Given the description of an element on the screen output the (x, y) to click on. 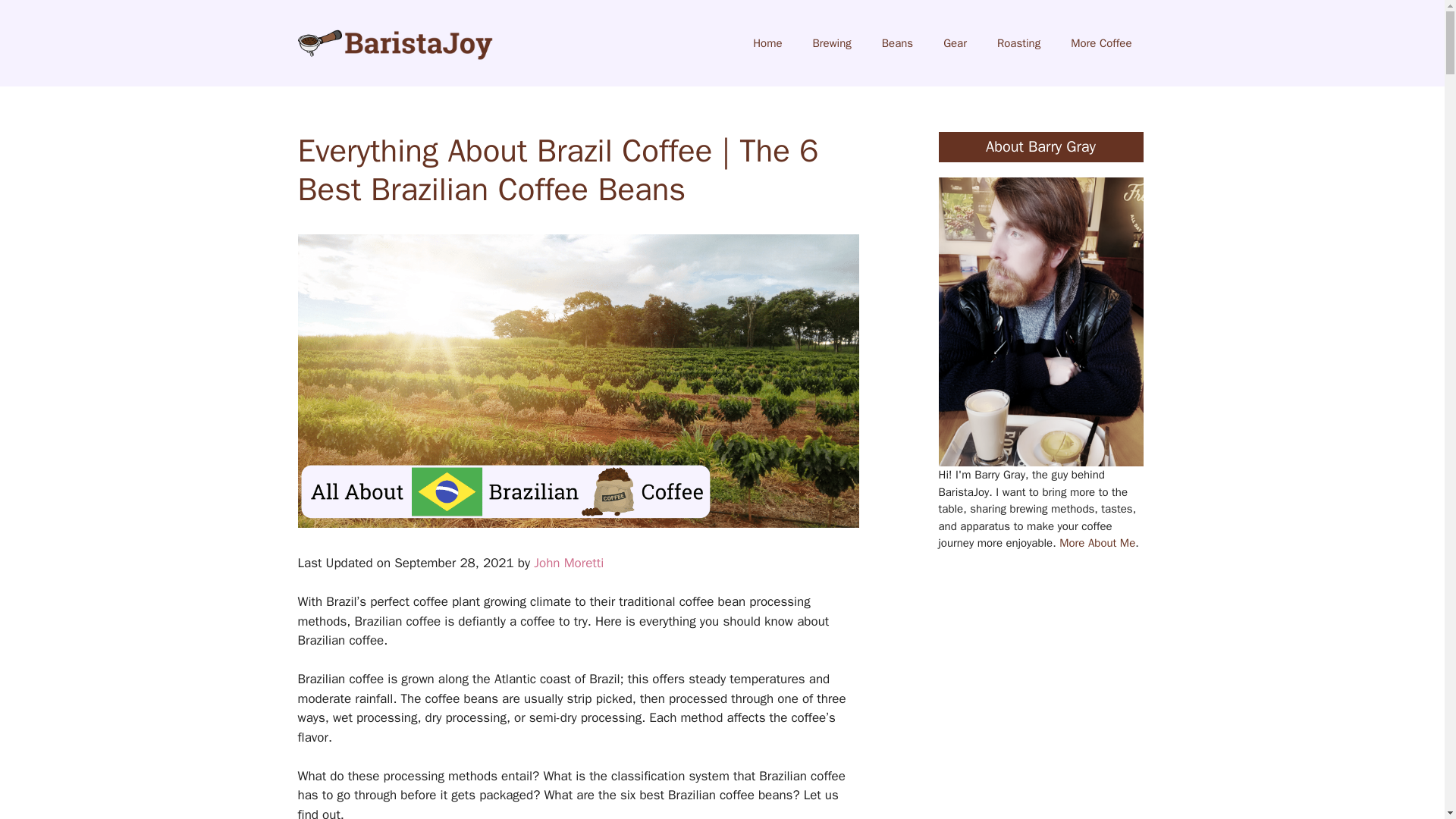
Brewing (831, 43)
Gear (954, 43)
John Moretti (569, 562)
More Coffee (1101, 43)
Beans (897, 43)
Home (767, 43)
Roasting (1018, 43)
